Given the description of an element on the screen output the (x, y) to click on. 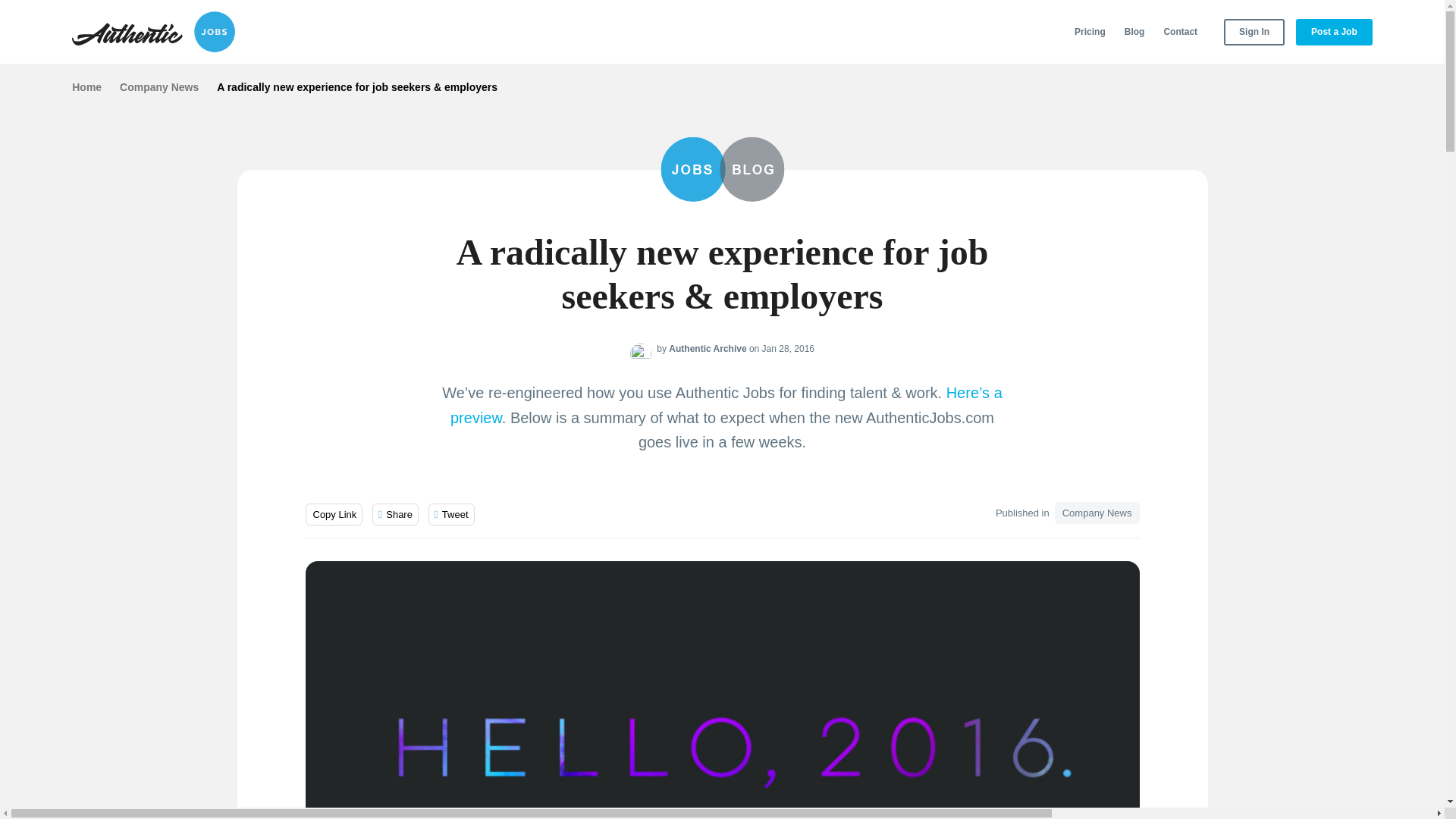
Contact (1179, 31)
Home (86, 87)
Post a Job (1334, 31)
Blog (1134, 31)
Share (395, 514)
Tweet (451, 514)
Company News (1097, 513)
Authentic Jobs (152, 31)
Sign In (1254, 31)
Copy Link (333, 514)
Pricing (1089, 31)
Company News (158, 87)
